Given the description of an element on the screen output the (x, y) to click on. 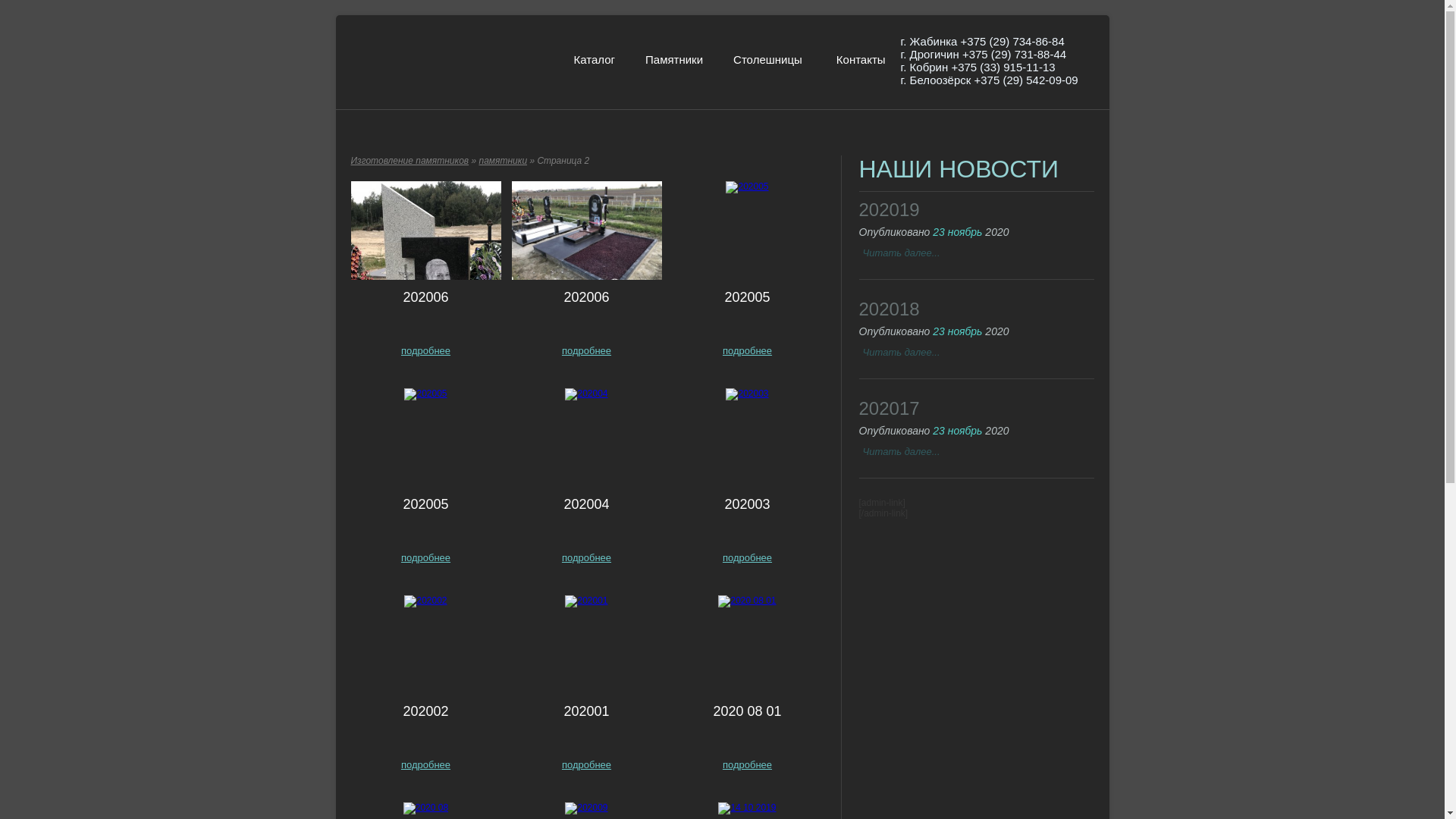
202006 Element type: text (425, 296)
202002 Element type: text (425, 710)
202017 Element type: text (888, 408)
202019 Element type: text (888, 209)
202003 Element type: text (746, 503)
202001 Element type: text (585, 710)
2020 08 01 Element type: text (746, 710)
202005 Element type: text (746, 296)
202006 Element type: text (585, 296)
202004 Element type: text (585, 503)
202018 Element type: text (888, 308)
202005 Element type: text (425, 503)
